Given the description of an element on the screen output the (x, y) to click on. 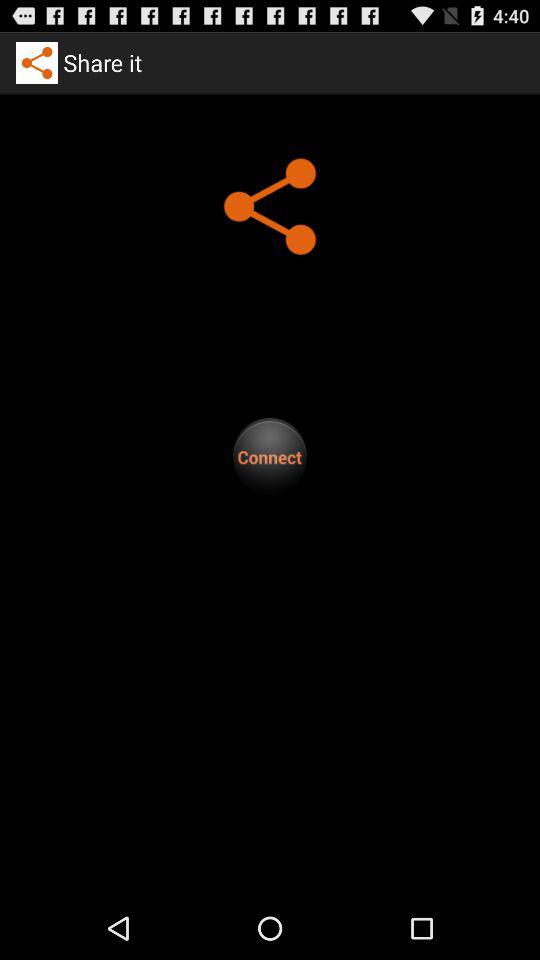
click on connect (270, 456)
